Given the description of an element on the screen output the (x, y) to click on. 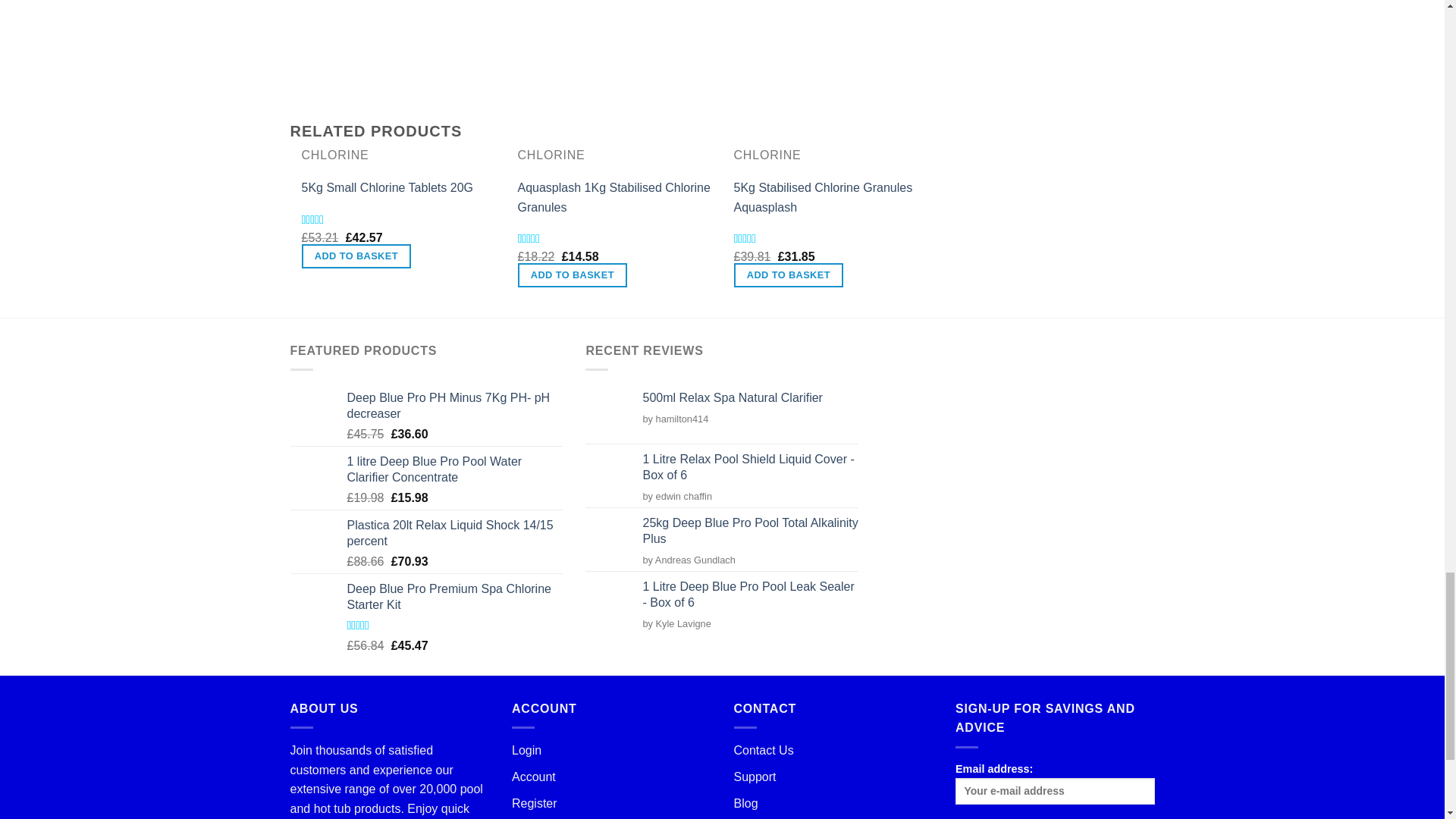
Contact (763, 749)
My account (526, 749)
My account (534, 776)
My account (534, 802)
